Given the description of an element on the screen output the (x, y) to click on. 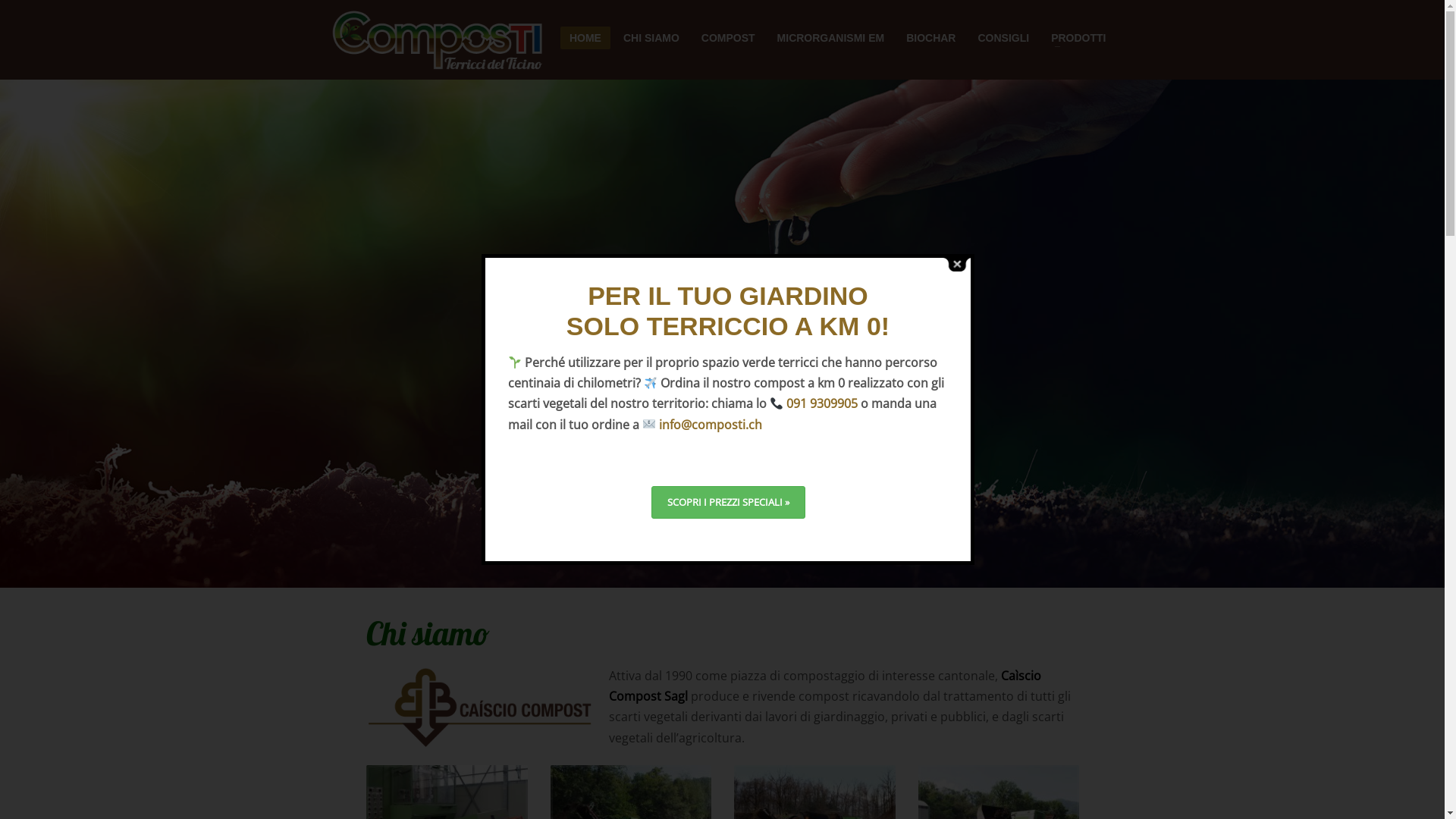
MICRORGANISMI EM Element type: text (831, 37)
COMPOST Element type: text (728, 37)
CONSIGLI Element type: text (1003, 37)
CHI SIAMO Element type: text (651, 37)
BIOCHAR Element type: text (930, 37)
091 9309905 Element type: text (821, 403)
PRODOTTI Element type: text (1077, 37)
HOME Element type: text (585, 37)
info@composti.ch Element type: text (710, 424)
